Given the description of an element on the screen output the (x, y) to click on. 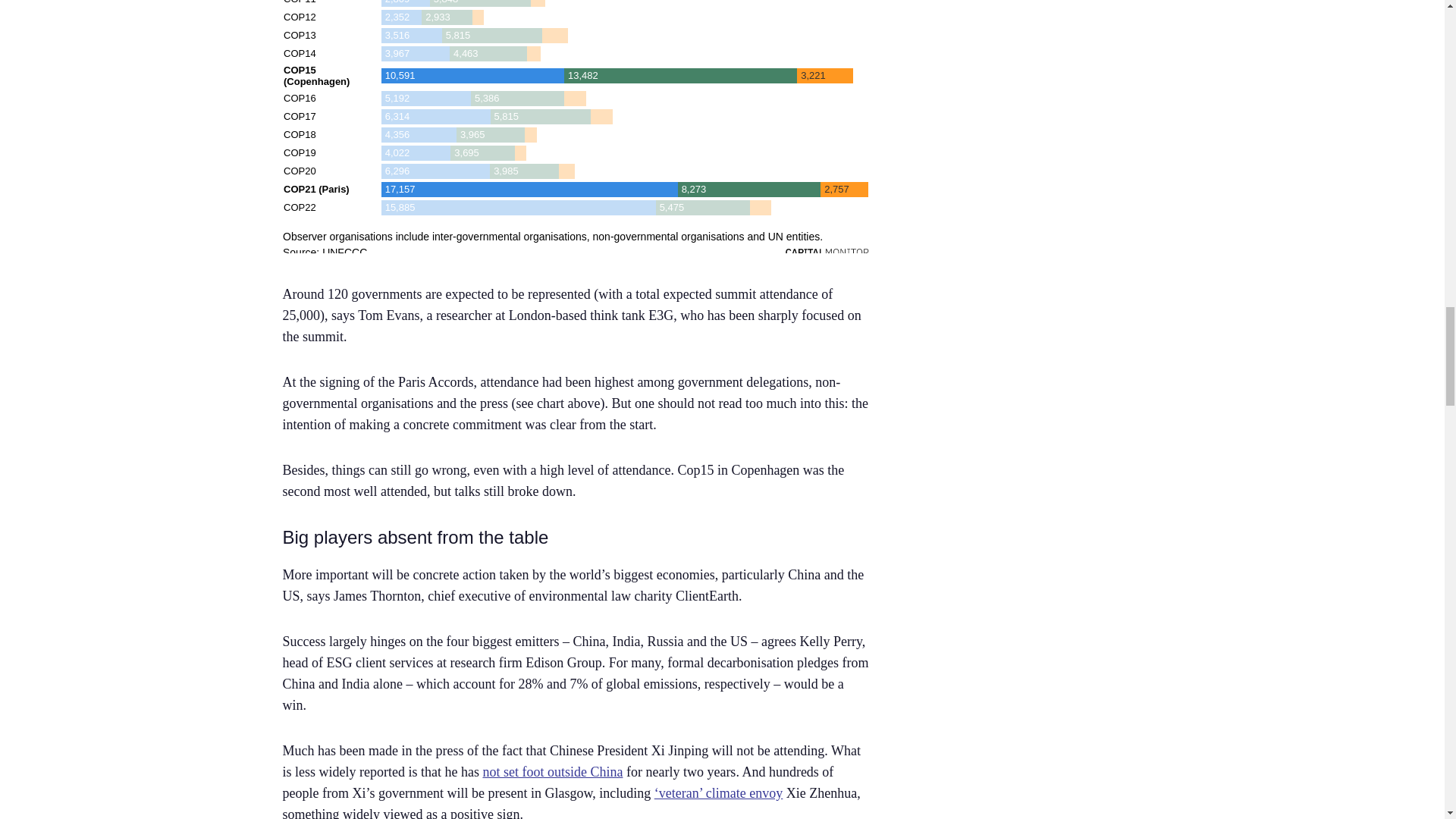
not set foot outside China (552, 771)
